Given the description of an element on the screen output the (x, y) to click on. 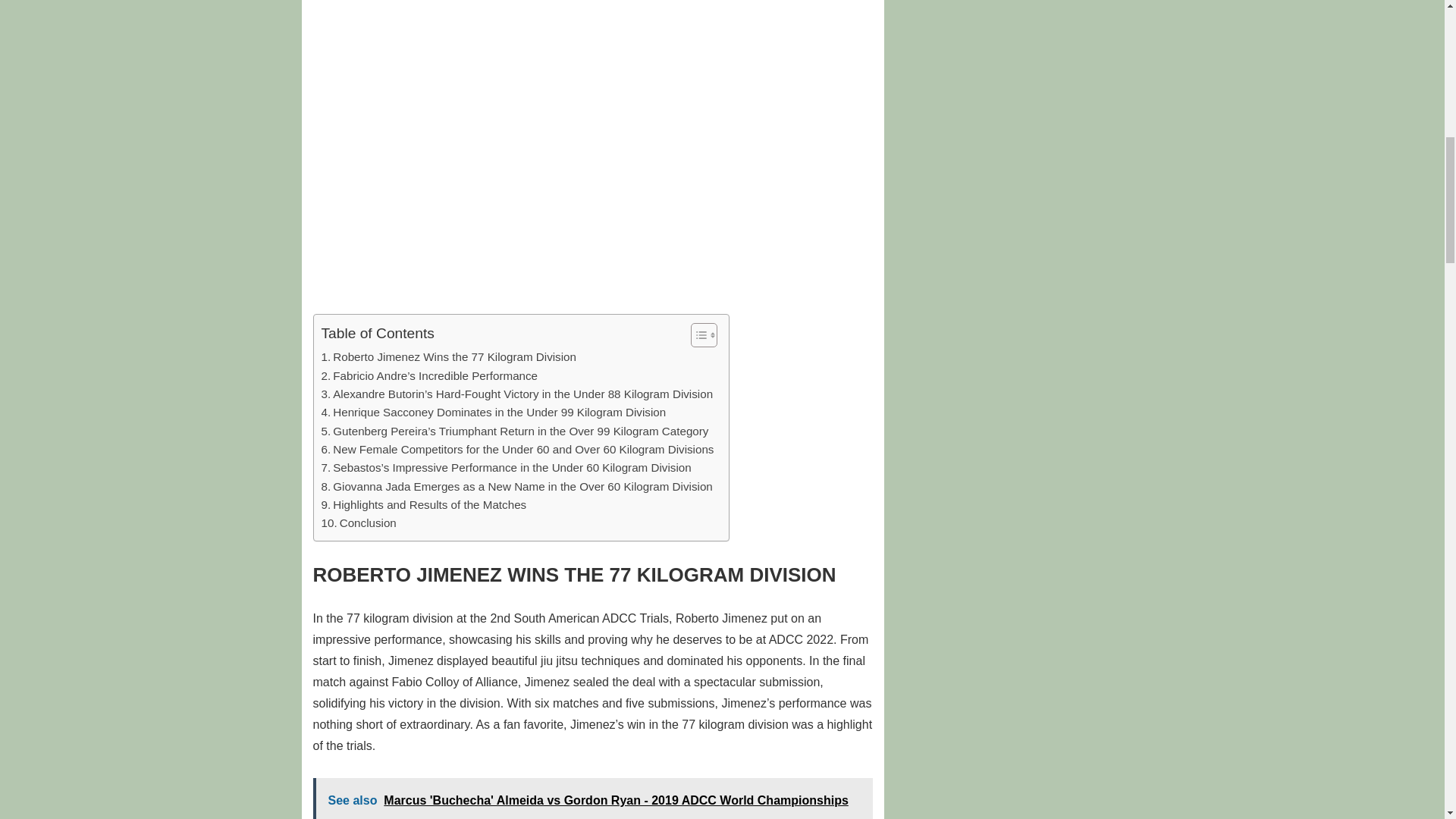
Roberto Jimenez Wins the 77 Kilogram Division (448, 357)
Conclusion (358, 523)
Roberto Jimenez Wins the 77 Kilogram Division (448, 357)
Highlights and Results of the Matches (424, 505)
